Given the description of an element on the screen output the (x, y) to click on. 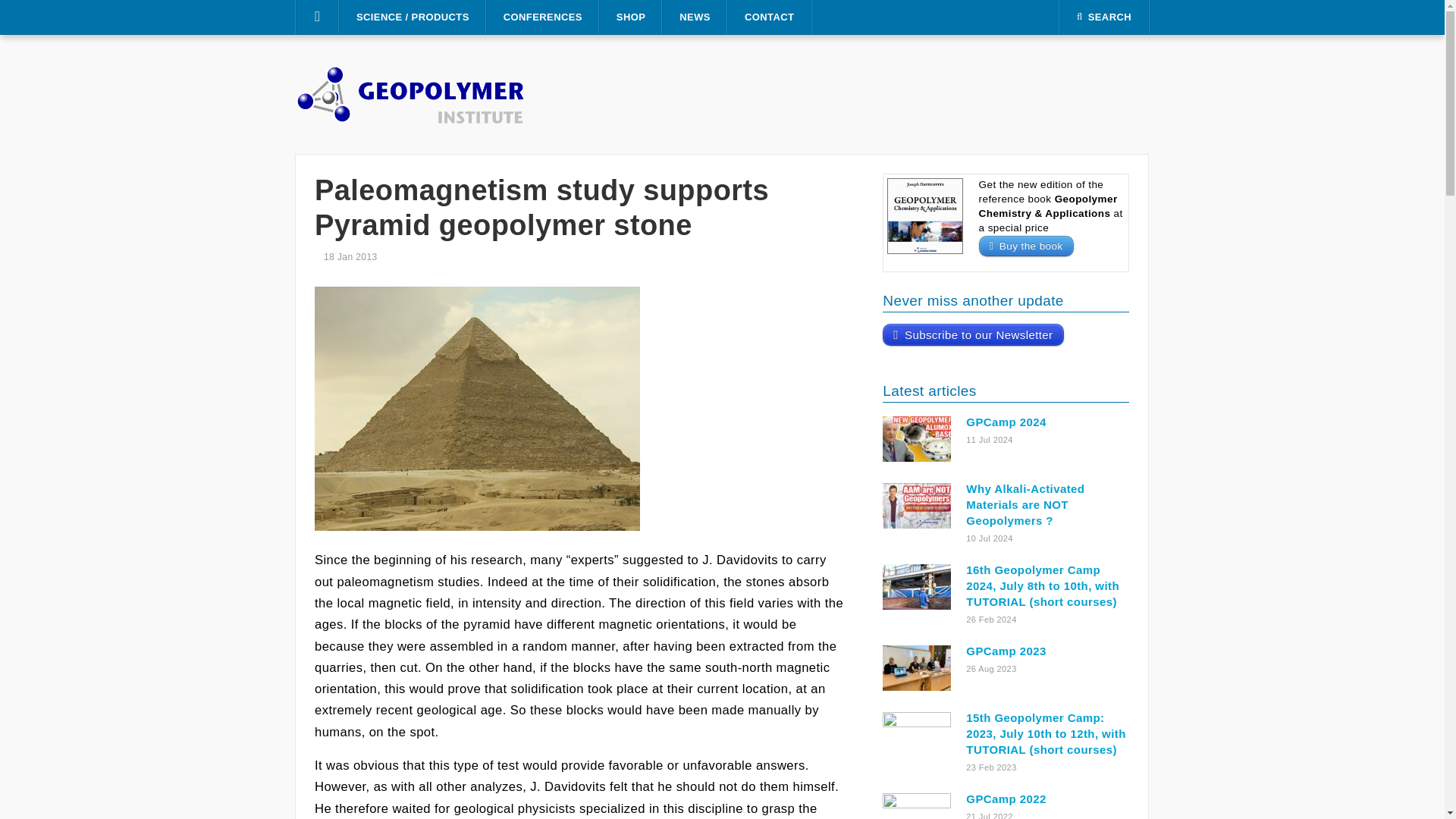
SHOP (630, 17)
CONTACT (769, 17)
SEARCH (1104, 16)
NEWS (694, 17)
Geopolymer Institute (410, 93)
CONFERENCES (542, 17)
